Given the description of an element on the screen output the (x, y) to click on. 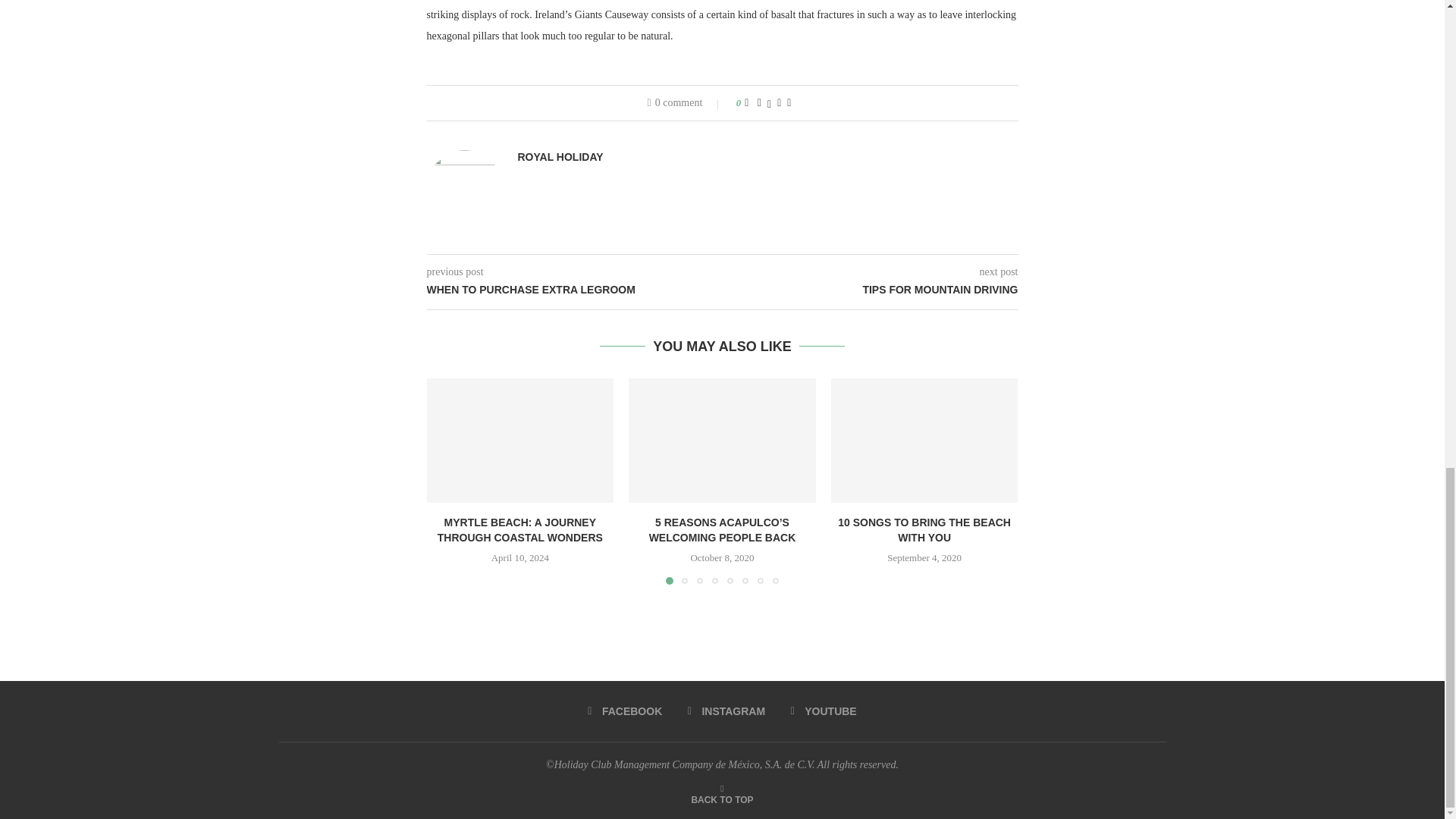
WHEN TO PURCHASE EXTRA LEGROOM (574, 290)
10 SONGS TO BRING THE BEACH WITH YOU (924, 440)
Author Royal Holiday (559, 156)
ROYAL HOLIDAY (559, 156)
MYRTLE BEACH: A JOURNEY THROUGH COASTAL WONDERS (519, 440)
